Given the description of an element on the screen output the (x, y) to click on. 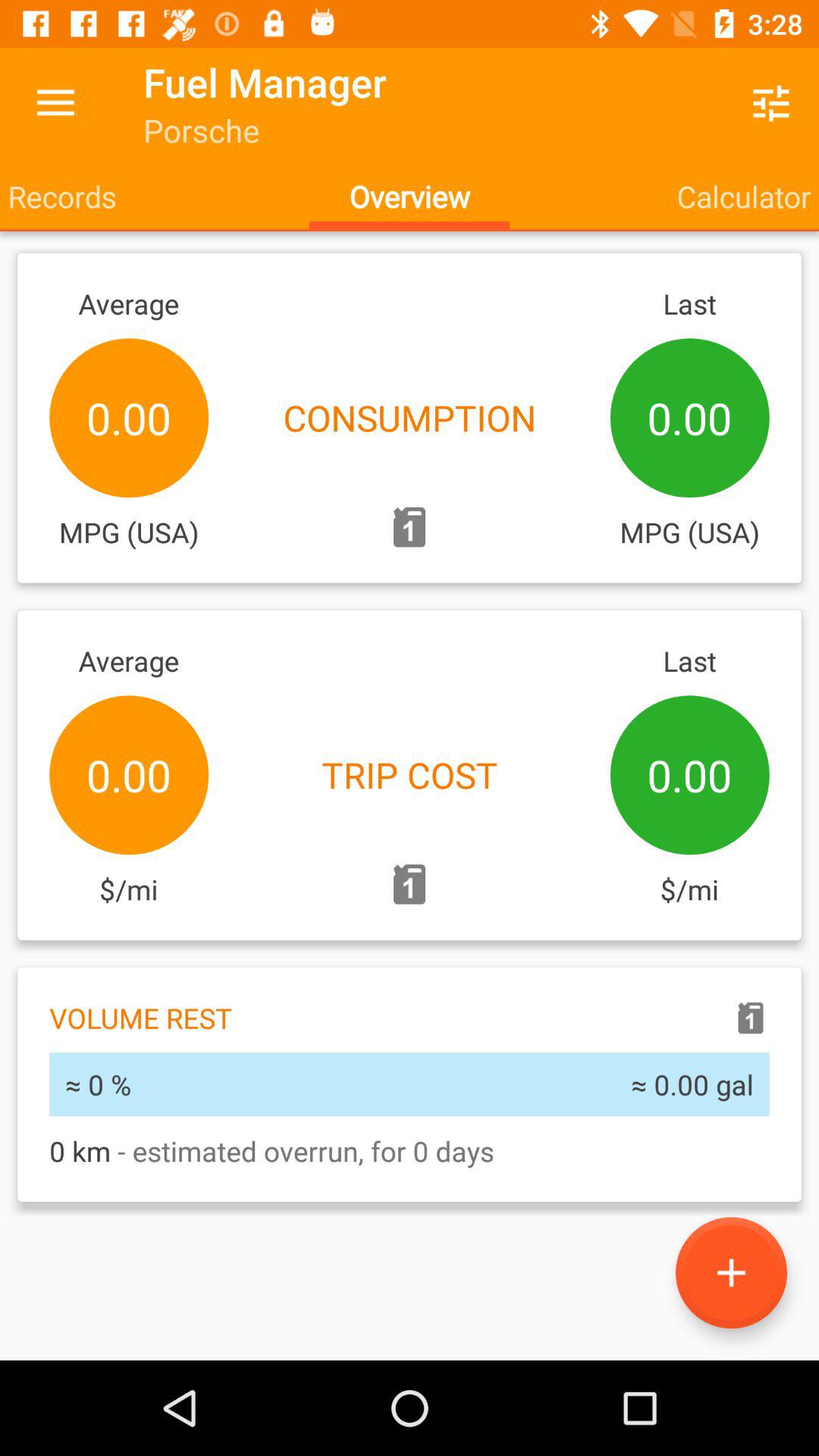
press icon to the right of the fuel manager (771, 103)
